Given the description of an element on the screen output the (x, y) to click on. 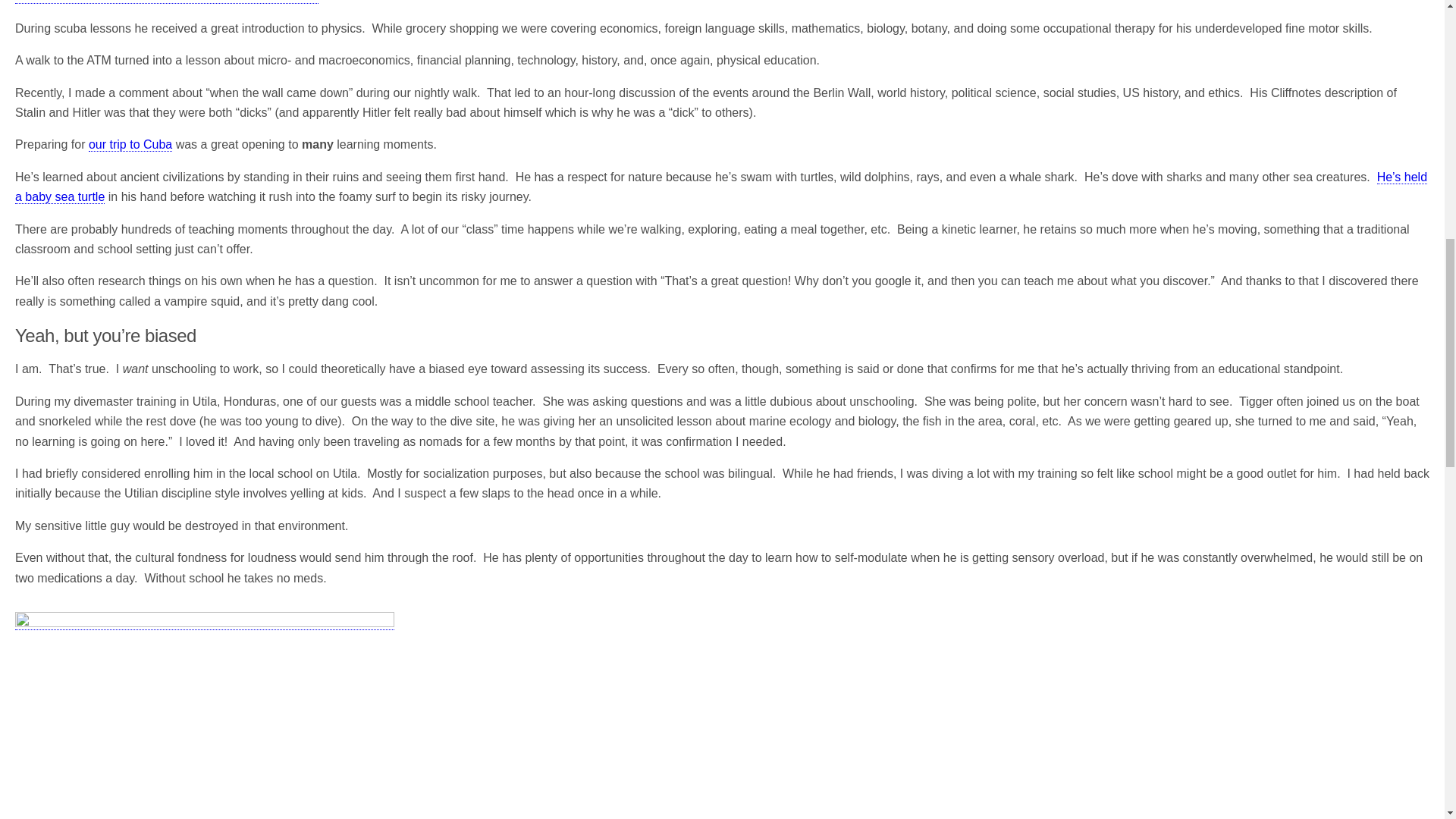
Life Lessons From Turtles (720, 186)
our trip to Cuba (129, 144)
Visiting The Forbidden Island (129, 144)
Tigger being a shutterbug (204, 715)
